Given the description of an element on the screen output the (x, y) to click on. 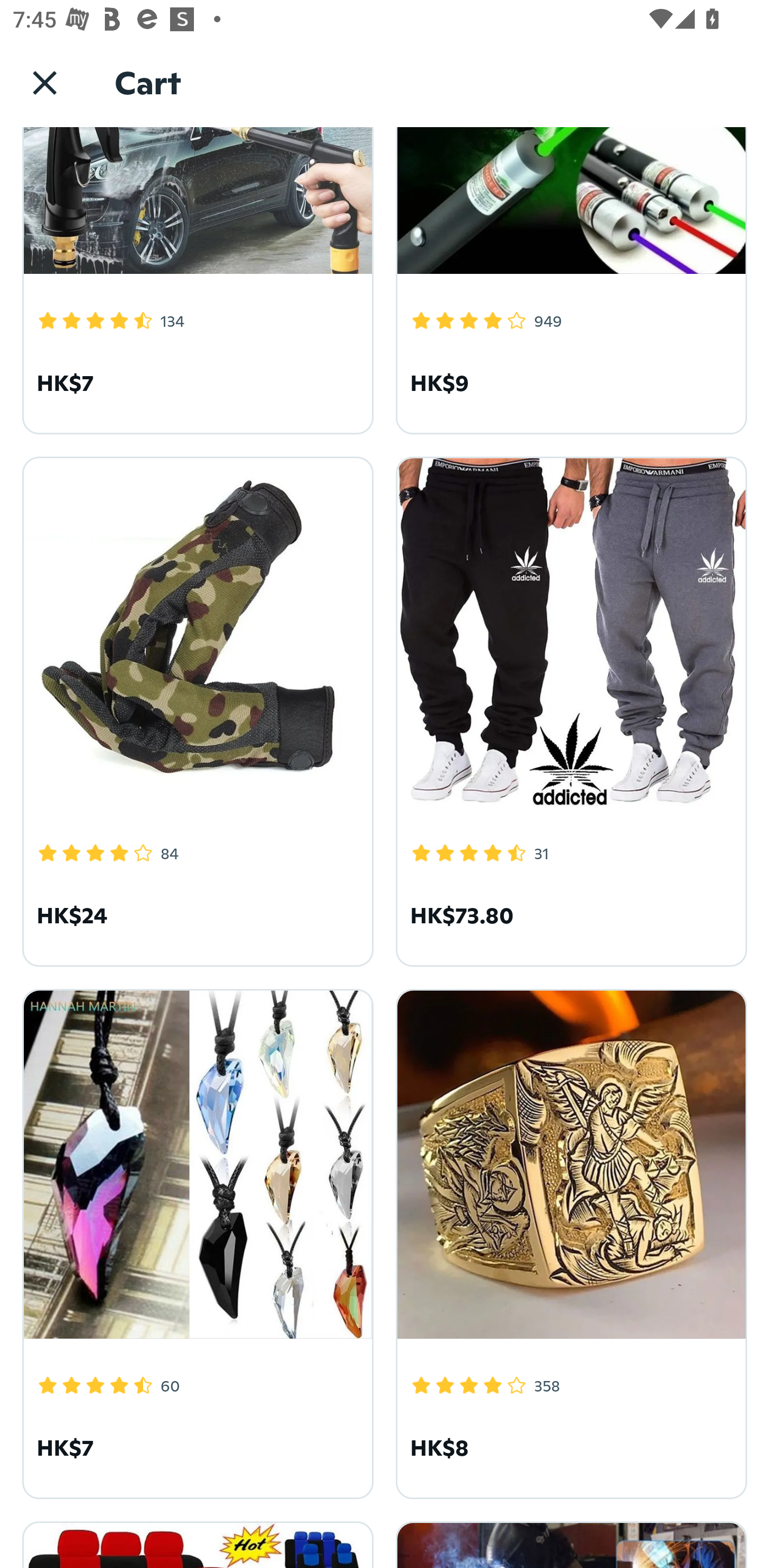
Navigate up (44, 82)
4.3 Star Rating 134 HK$7 (194, 280)
3.9 Star Rating 949 HK$9 (567, 280)
4 Star Rating 84 HK$24 (194, 708)
4.4 Star Rating 31 HK$73.80 (567, 708)
4.2 Star Rating 60 HK$7 (194, 1241)
4 Star Rating 358 HK$8 (567, 1241)
